Given the description of an element on the screen output the (x, y) to click on. 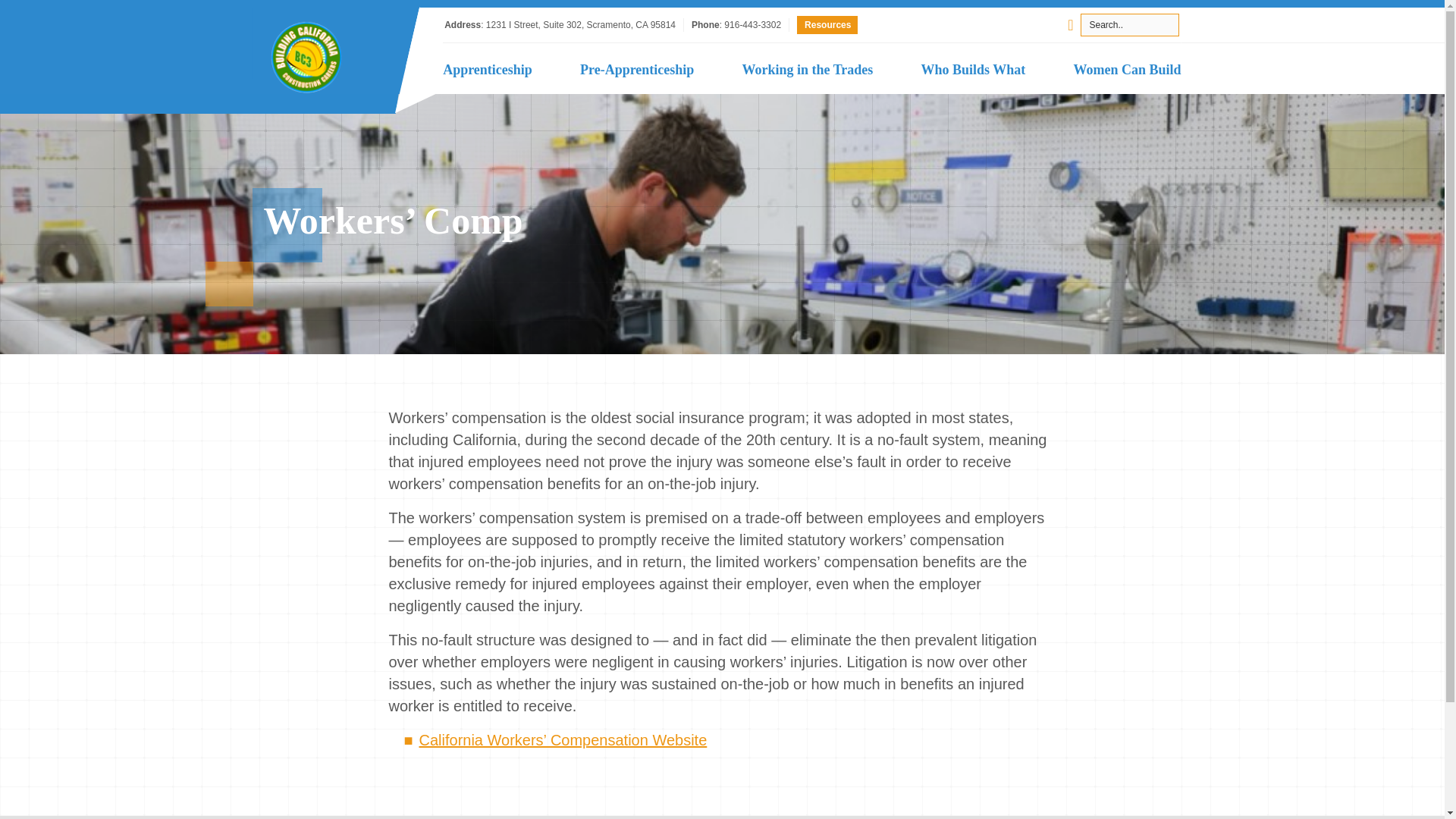
Pre-Apprenticeship (636, 69)
Apprenticeship (487, 69)
Resources (826, 24)
Working in the Trades (806, 69)
Who Builds What (973, 69)
Women Can Build (1126, 69)
